Given the description of an element on the screen output the (x, y) to click on. 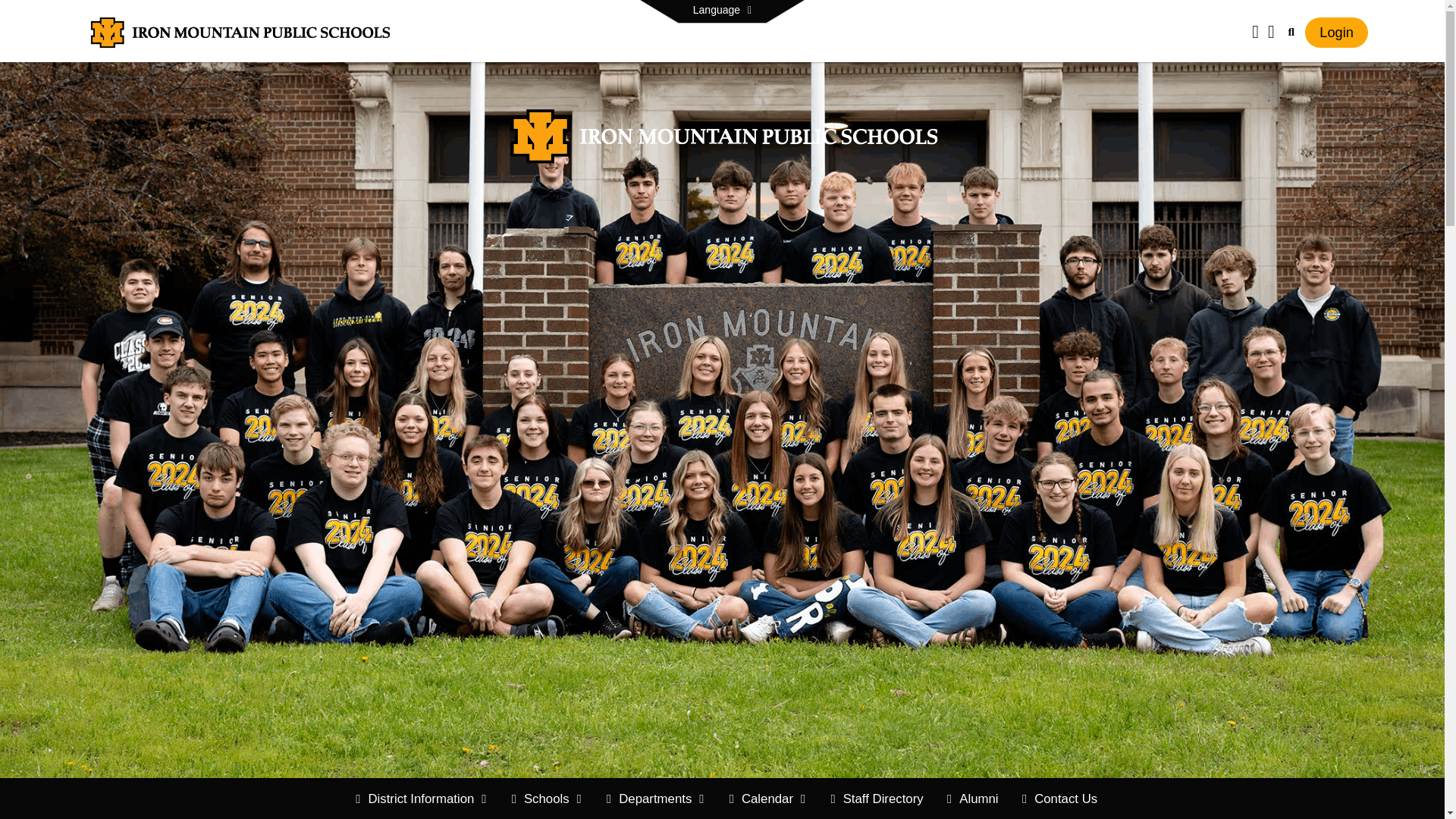
Staff Directory (876, 799)
District Information (421, 799)
Iron Mountain Public Schools (239, 31)
Alumni (972, 799)
Schools (547, 799)
Language (721, 11)
Login (1336, 32)
Calendar (767, 799)
Departments (655, 799)
Contact Us (1059, 799)
